Given the description of an element on the screen output the (x, y) to click on. 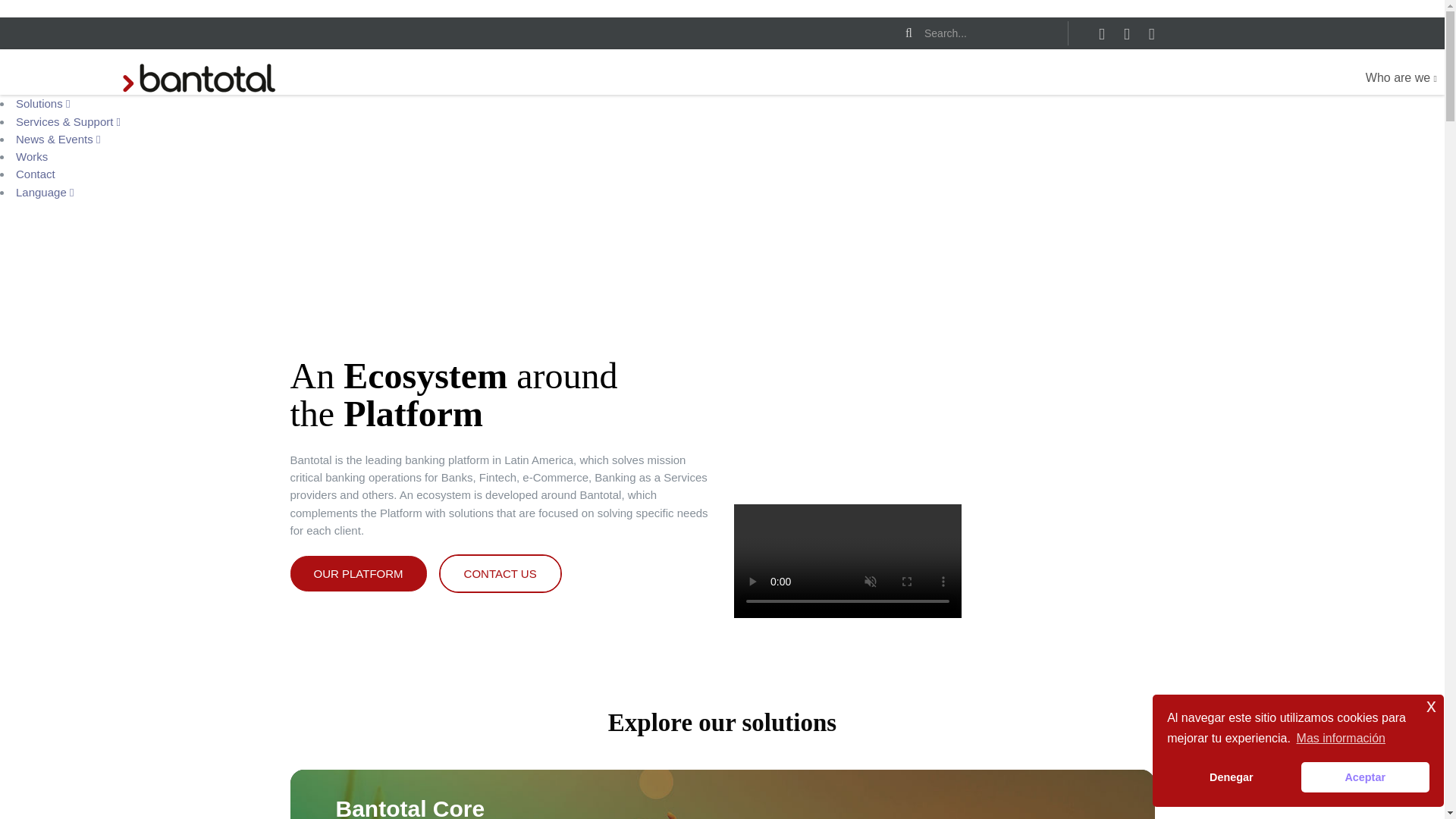
Contact (35, 173)
Language (45, 191)
Solutions (42, 103)
Works (32, 155)
Who are we (1401, 78)
